Given the description of an element on the screen output the (x, y) to click on. 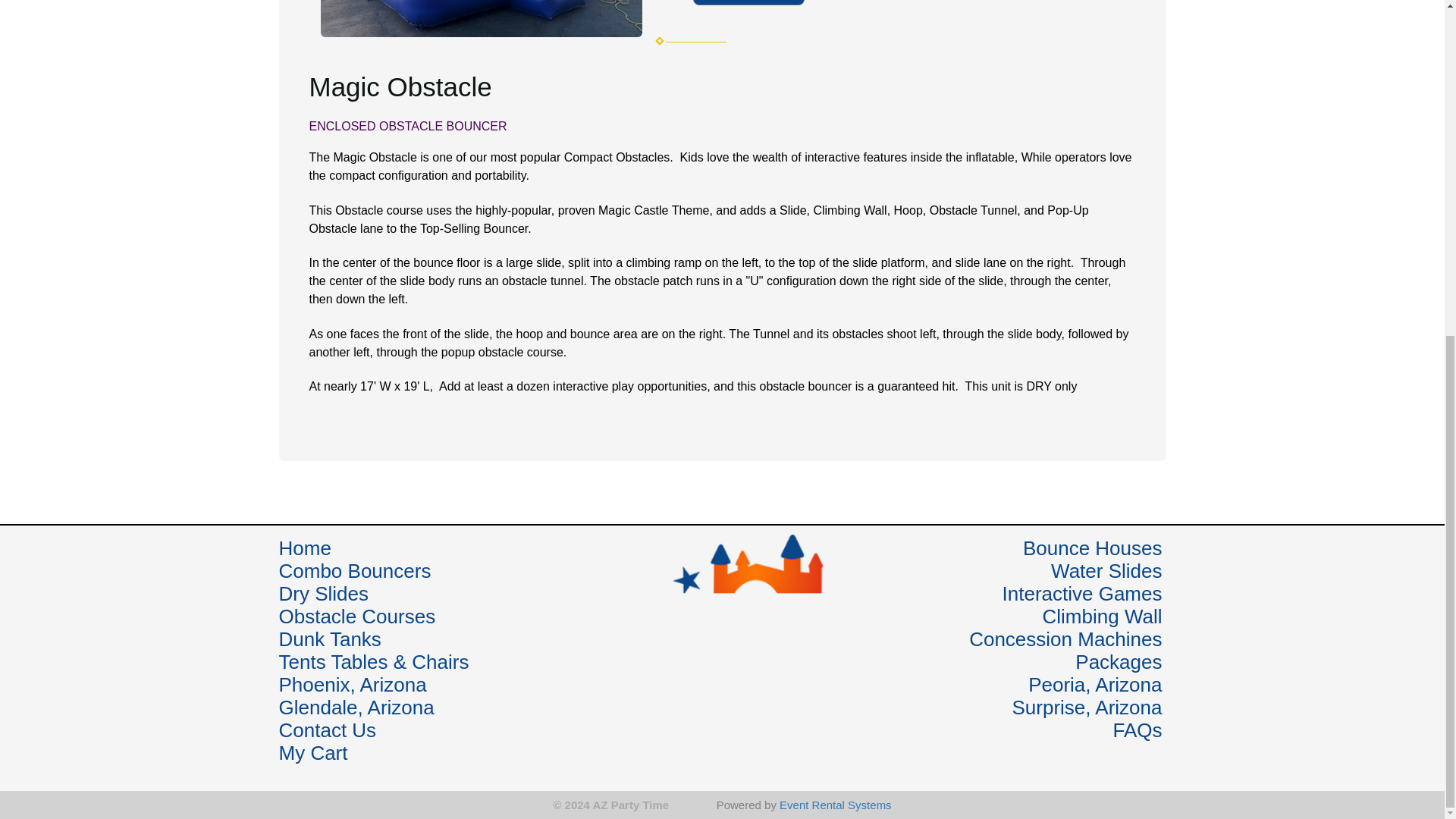
AZ Party Time (720, 630)
Bounce Houses (1092, 548)
Home (305, 548)
6in1 Magic Obstacle  (481, 18)
Combo Bouncers (354, 570)
Water Slides (1106, 570)
Interactive Games (1082, 593)
Dry Slides (323, 593)
